Given the description of an element on the screen output the (x, y) to click on. 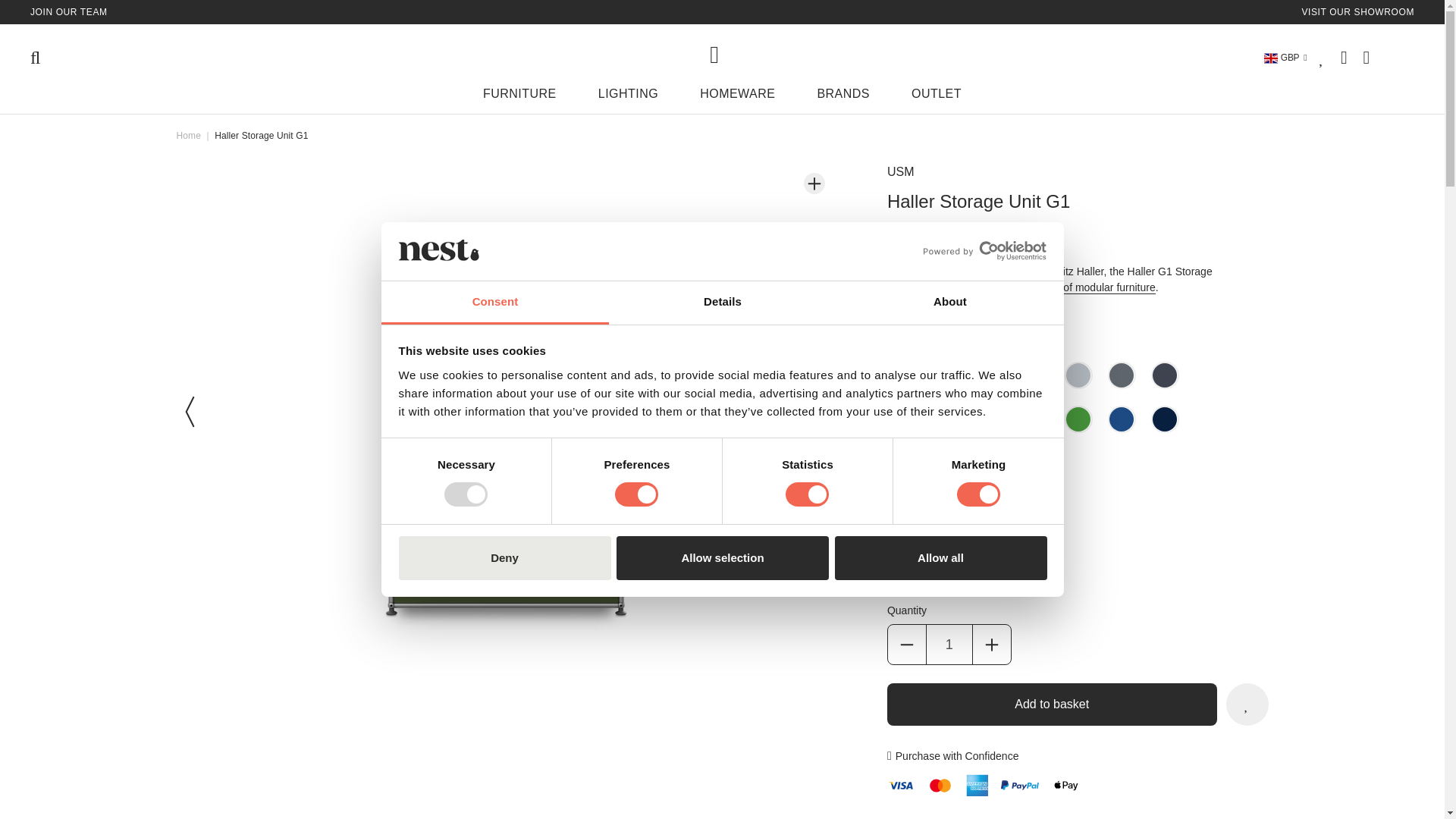
Made to order in approx. 8 weeks (984, 532)
1 (949, 644)
About (948, 302)
Details (721, 302)
Consent (494, 302)
